Given the description of an element on the screen output the (x, y) to click on. 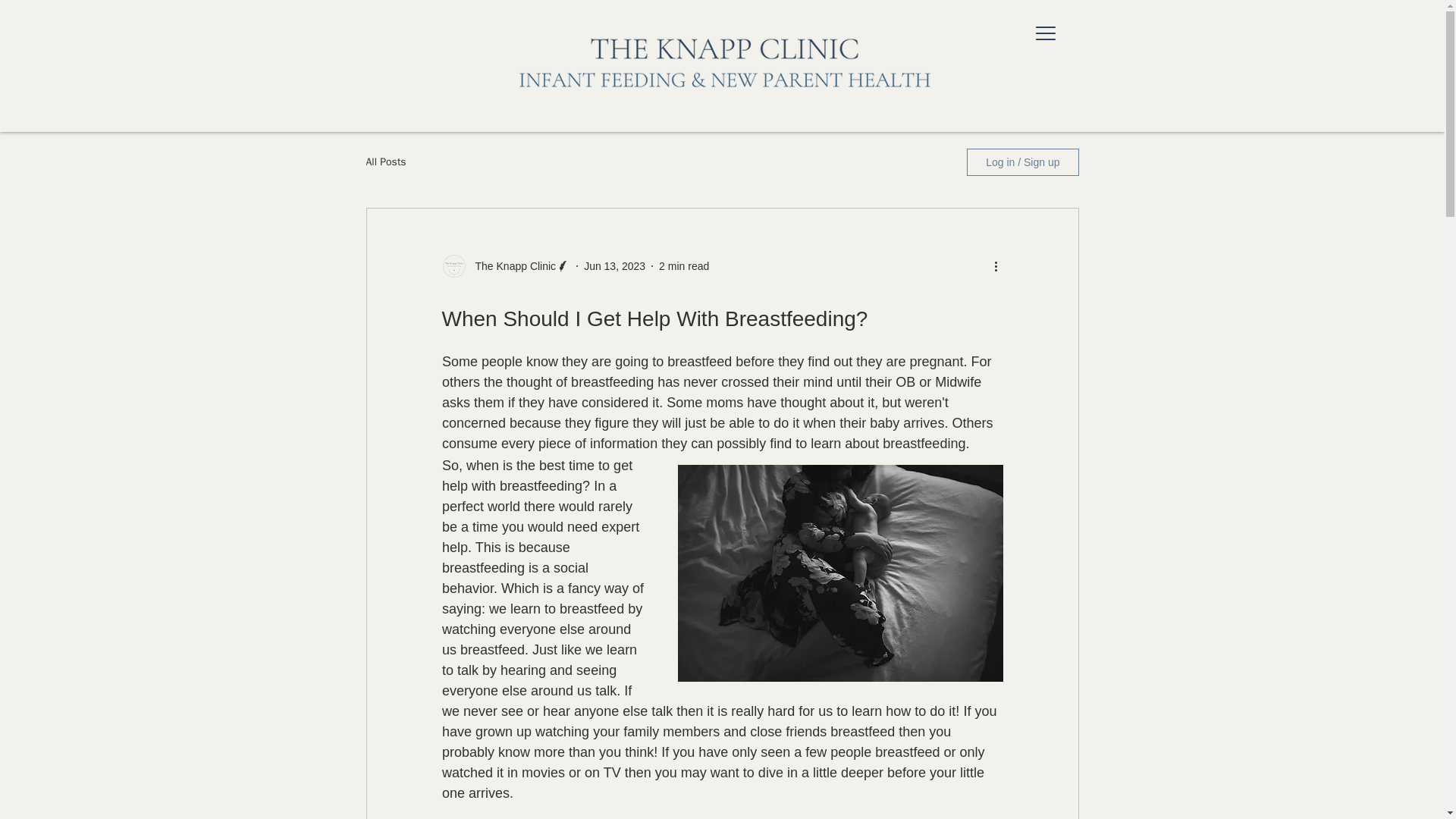
The Knapp Clinic - Infant Feeding Homepage (721, 65)
The Knapp Clinic (510, 265)
2 min read (684, 265)
All Posts (385, 161)
Jun 13, 2023 (614, 265)
